Given the description of an element on the screen output the (x, y) to click on. 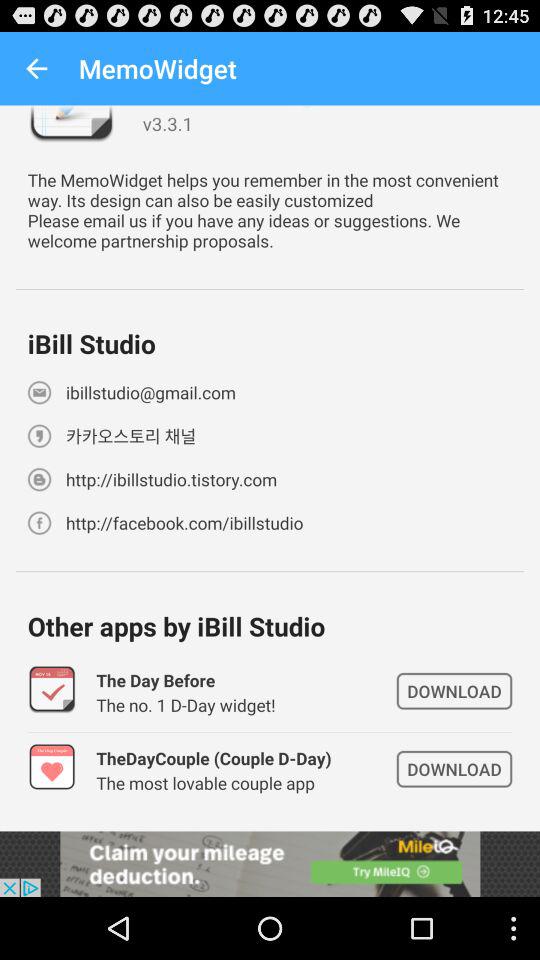
open link to advertisement (270, 864)
